Given the description of an element on the screen output the (x, y) to click on. 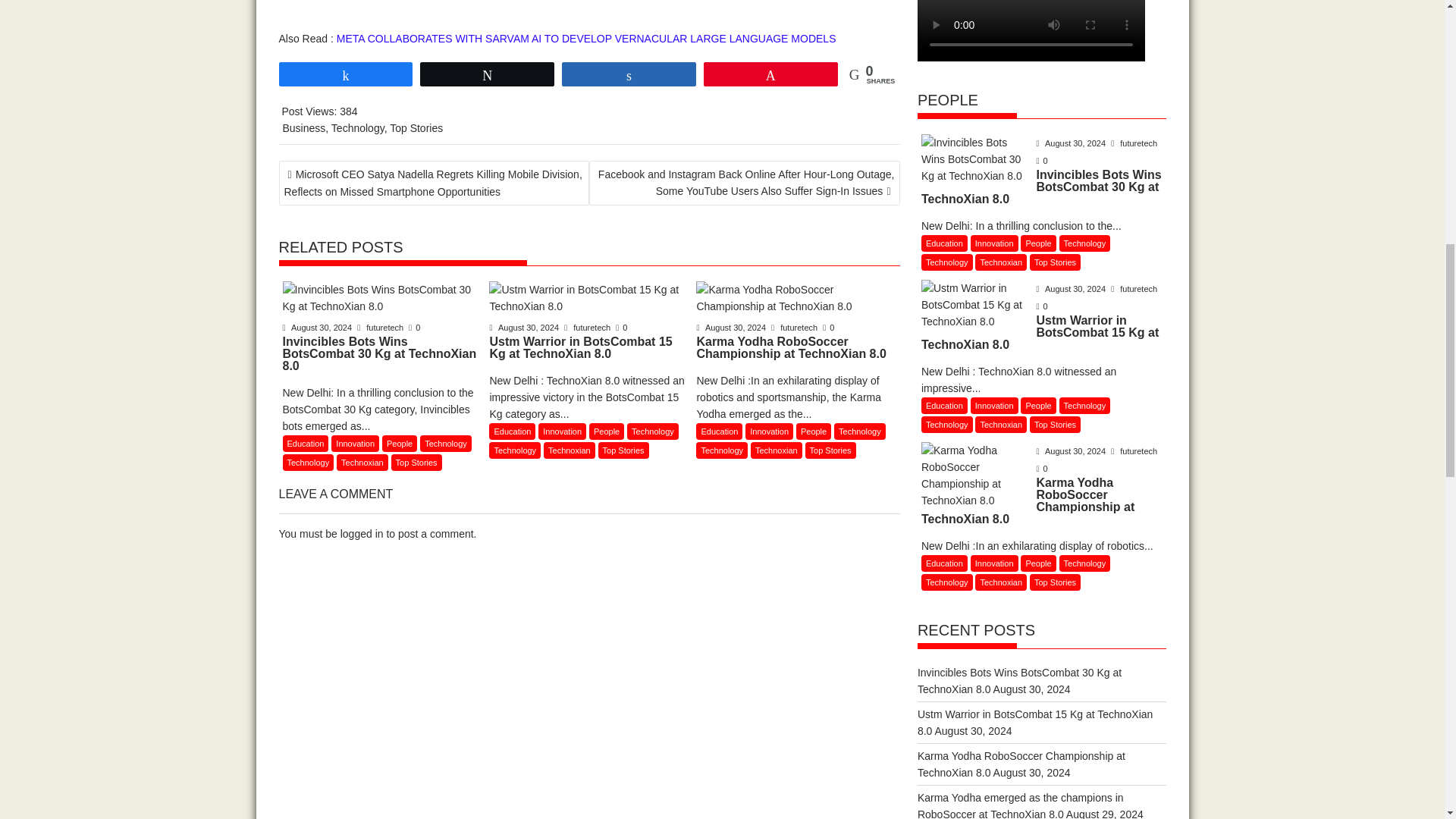
futuretech (795, 327)
August 30, 2024 (317, 327)
Business (303, 128)
Invincibles Bots Wins BotsCombat 30 Kg at TechnoXian 8.0 (381, 297)
Ustm Warrior in BotsCombat 15 Kg at TechnoXian 8.0 (588, 297)
Technology (357, 128)
futuretech (381, 327)
